Given the description of an element on the screen output the (x, y) to click on. 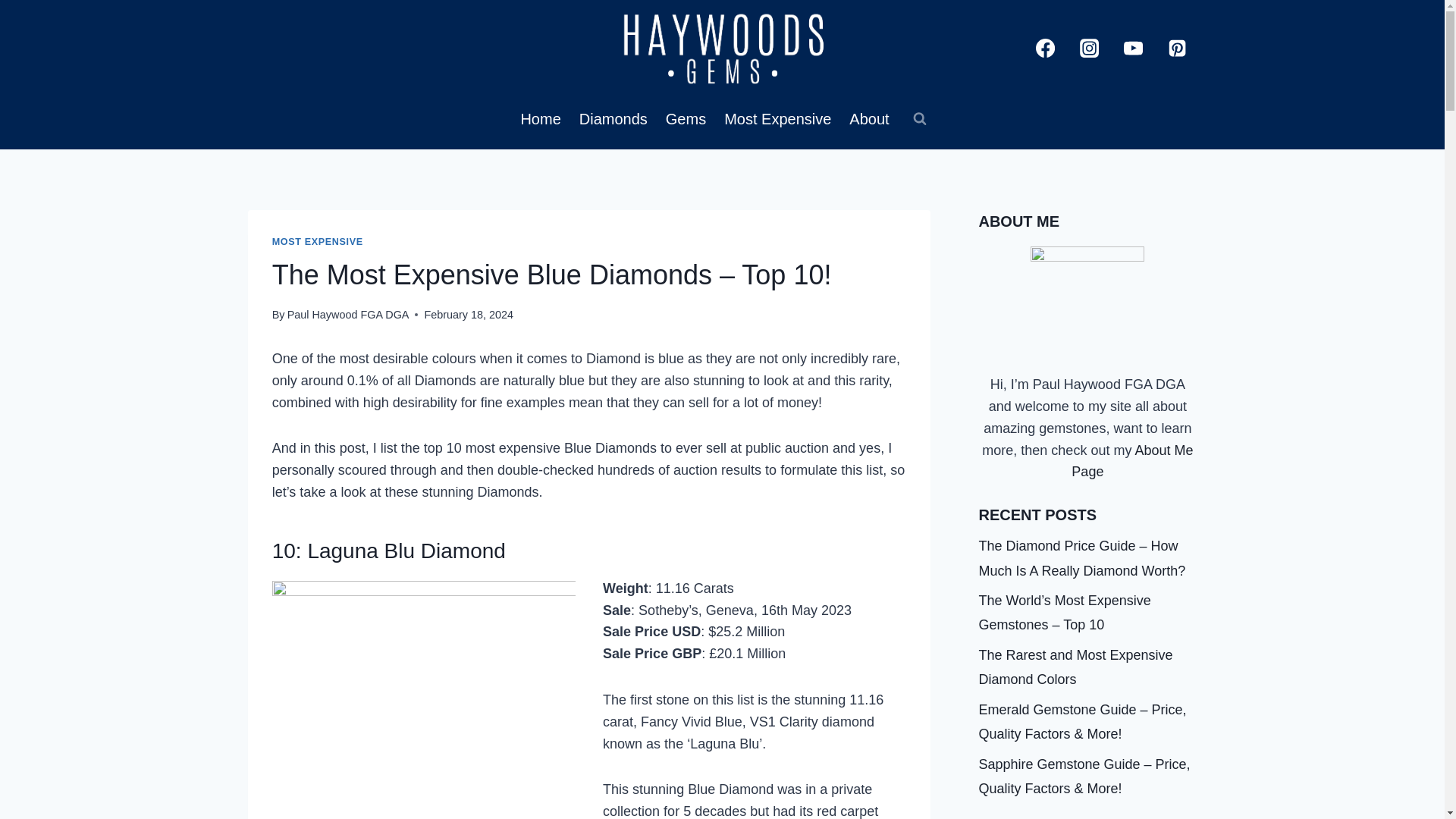
Gems (685, 118)
Home (540, 118)
Most Expensive (777, 118)
Laguna Blu Diamond (406, 550)
MOST EXPENSIVE (317, 241)
About (869, 118)
Diamonds (613, 118)
Paul Haywood FGA DGA (347, 314)
